Given the description of an element on the screen output the (x, y) to click on. 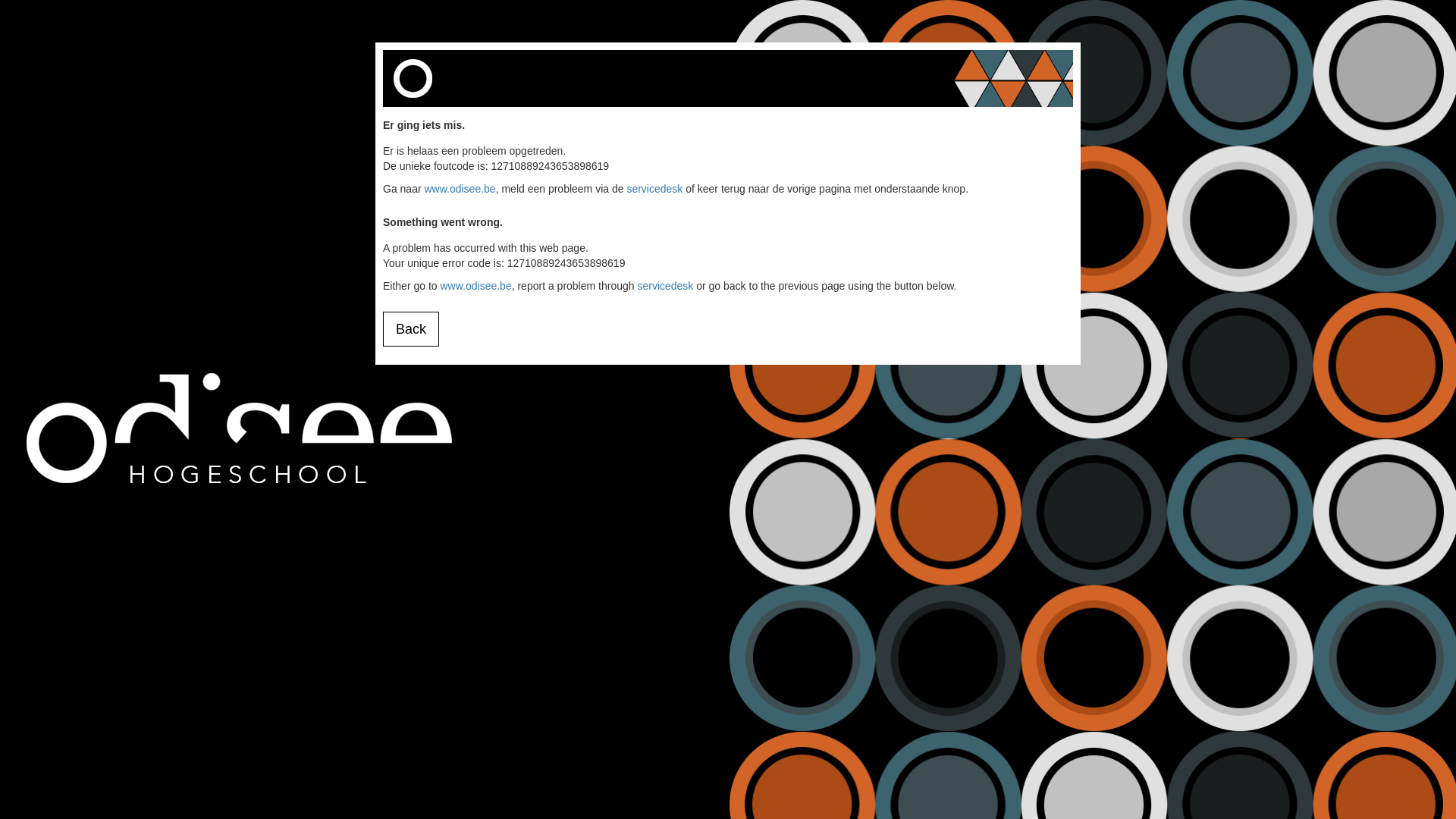
www.odisee.be Element type: text (475, 285)
www.odisee.be Element type: text (459, 188)
servicedesk Element type: text (654, 188)
servicedesk Element type: text (665, 285)
Back Element type: text (410, 328)
